Given the description of an element on the screen output the (x, y) to click on. 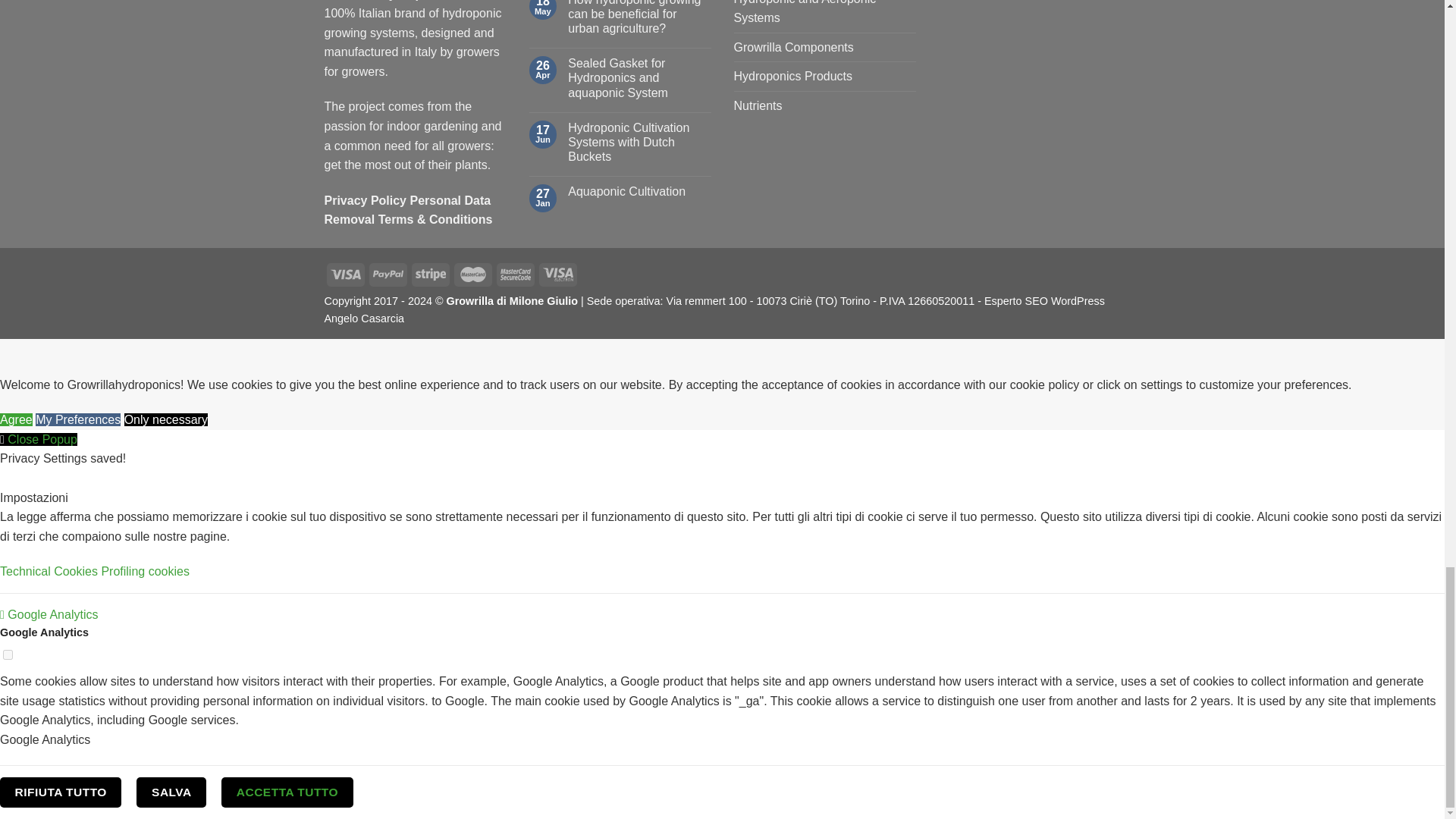
on (7, 655)
